Given the description of an element on the screen output the (x, y) to click on. 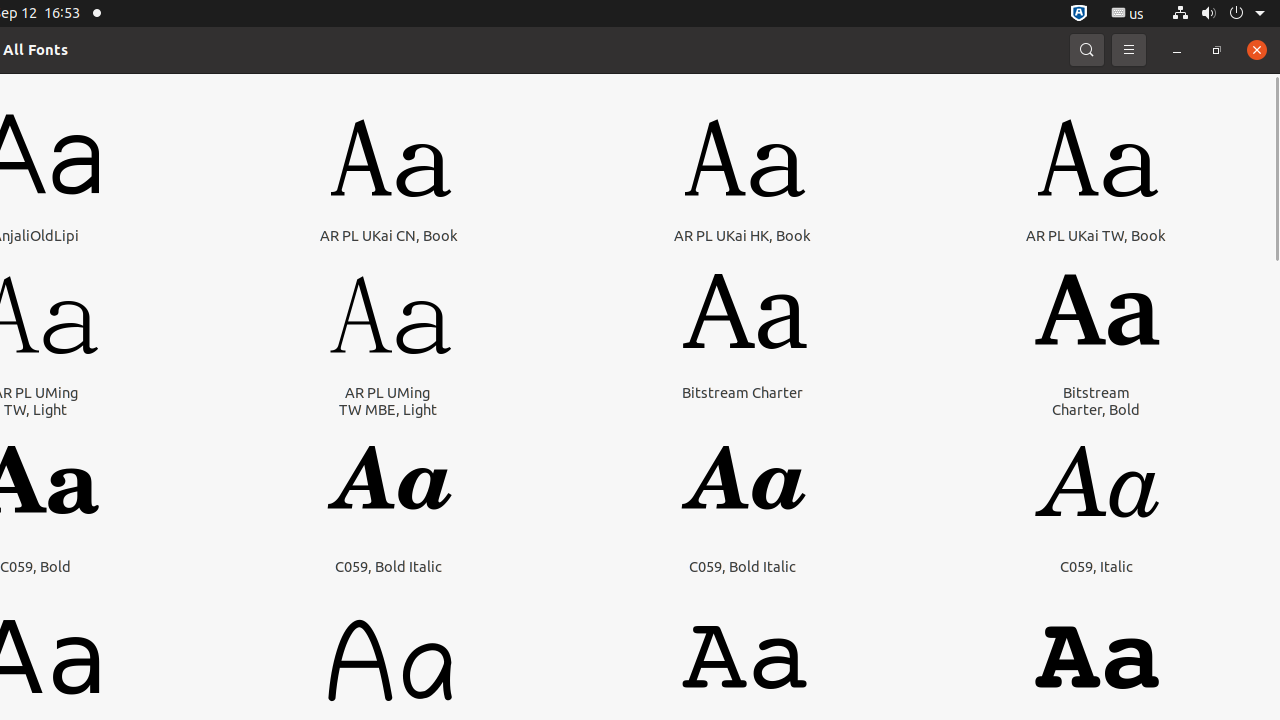
C059, Italic Element type: label (1096, 566)
AR PL UKai TW, Book Element type: label (1096, 235)
C059, Bold Italic Element type: label (388, 566)
Restore Element type: push-button (1217, 50)
